Given the description of an element on the screen output the (x, y) to click on. 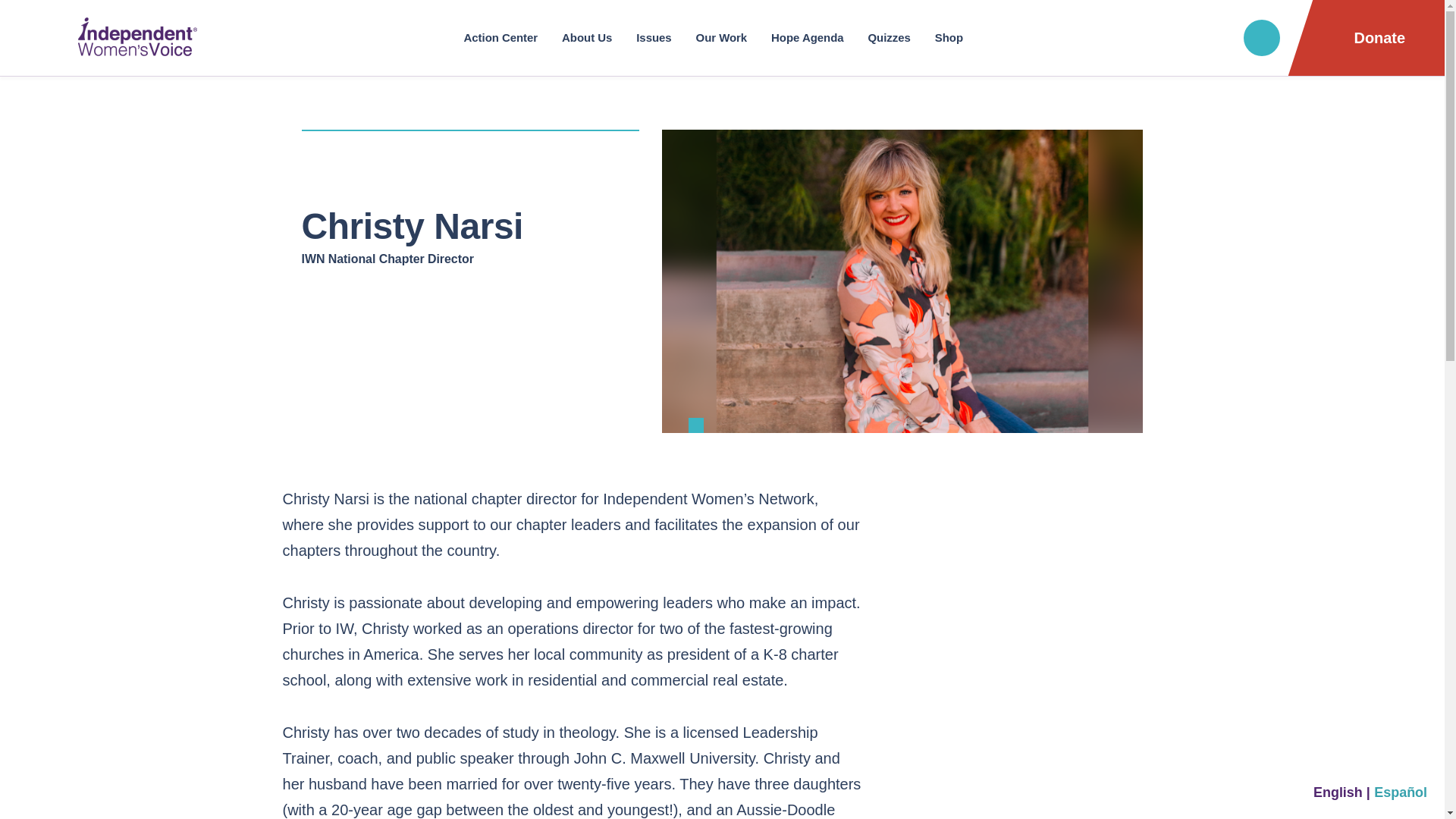
Shop (948, 37)
About Us (586, 37)
Action Center (501, 37)
Quizzes (889, 37)
Hope Agenda (807, 37)
Issues (653, 37)
Our Work (721, 37)
